Given the description of an element on the screen output the (x, y) to click on. 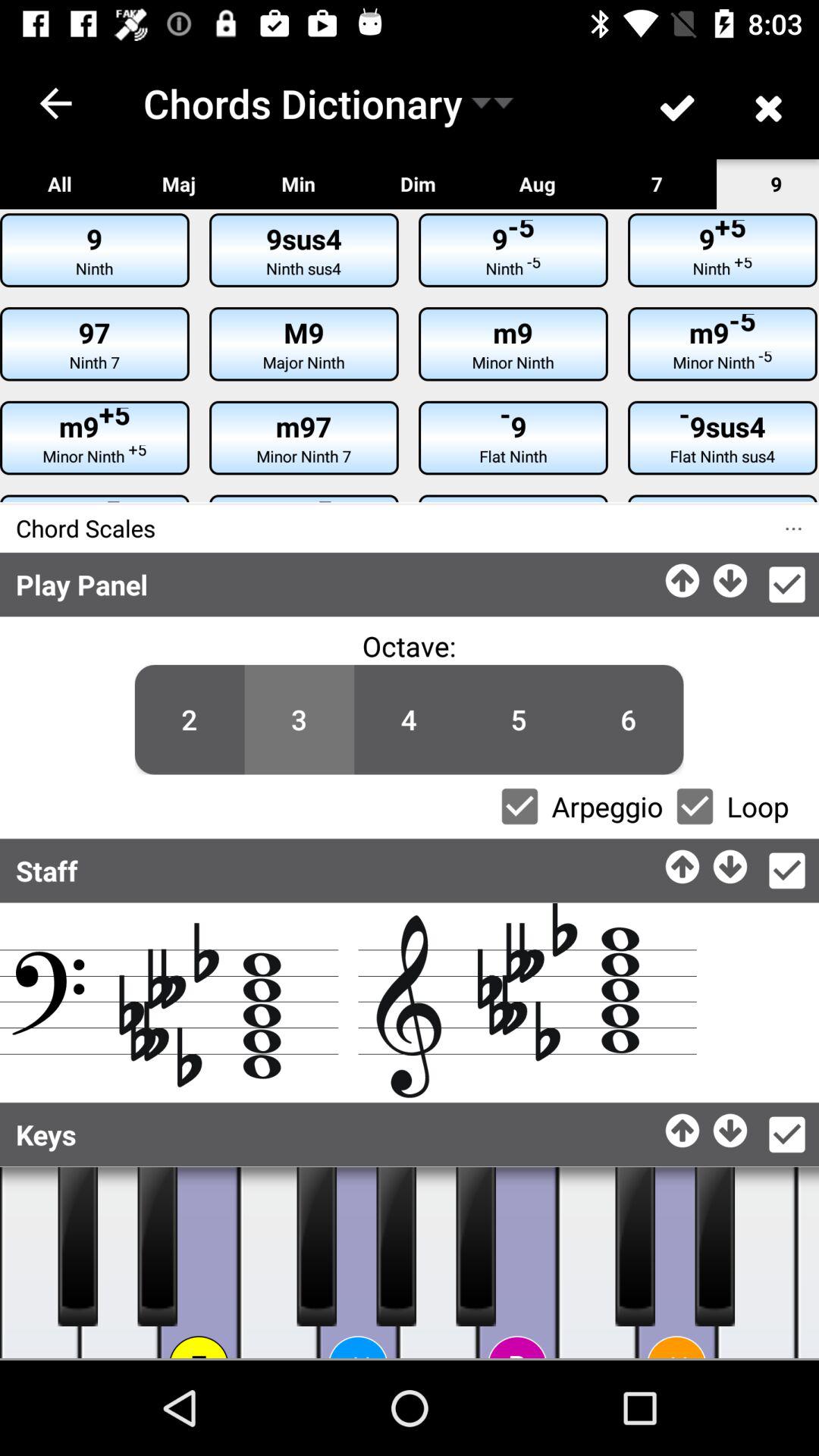
play piano key (517, 1262)
